Given the description of an element on the screen output the (x, y) to click on. 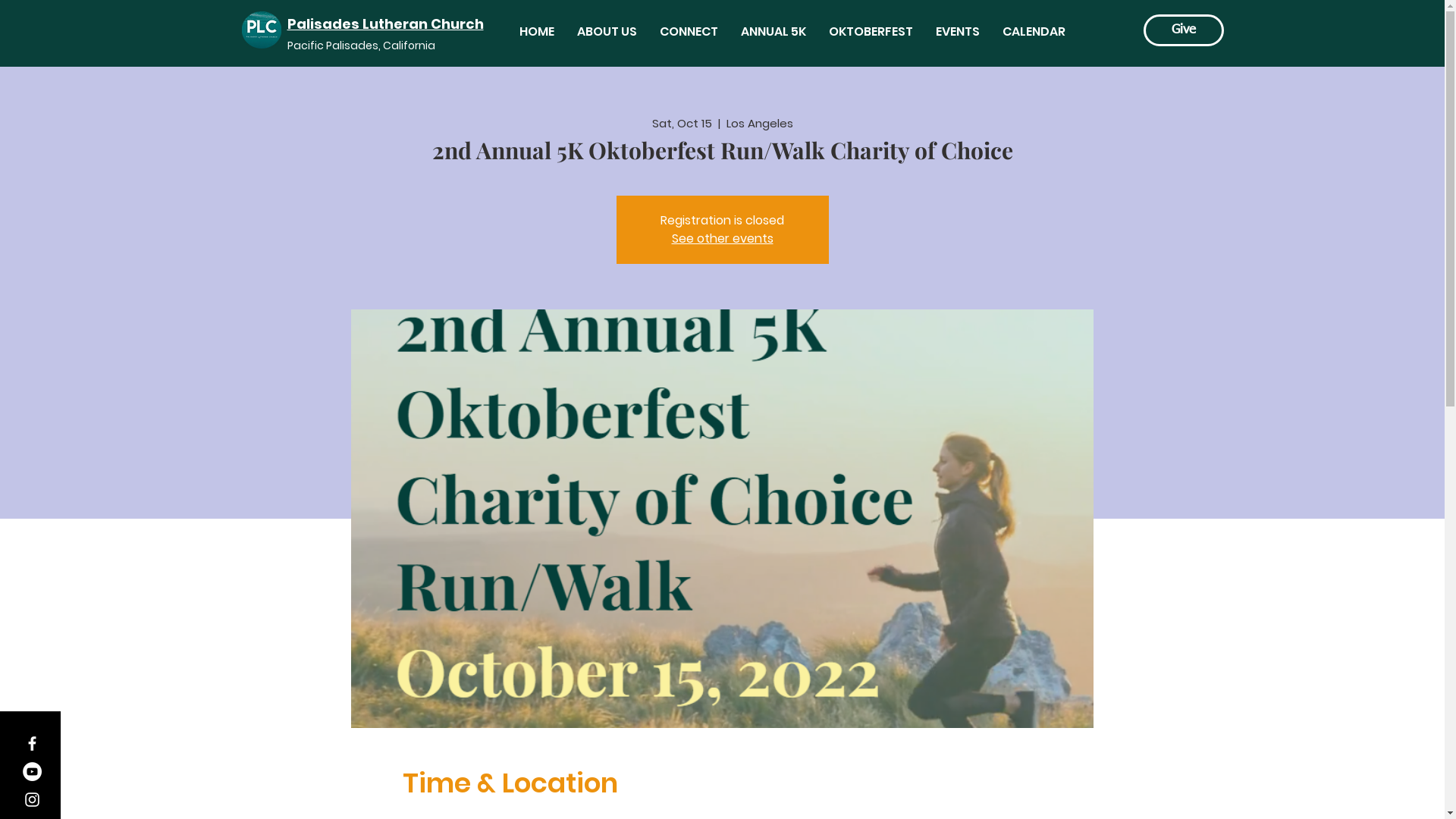
CALENDAR Element type: text (1033, 31)
See other events Element type: text (722, 238)
OKTOBERFEST Element type: text (870, 31)
Palisades Lutheran Church Element type: text (384, 23)
HOME Element type: text (536, 31)
Give Element type: text (1183, 30)
ANNUAL 5K Element type: text (773, 31)
Pacific Palisades, California Element type: text (360, 45)
